Given the description of an element on the screen output the (x, y) to click on. 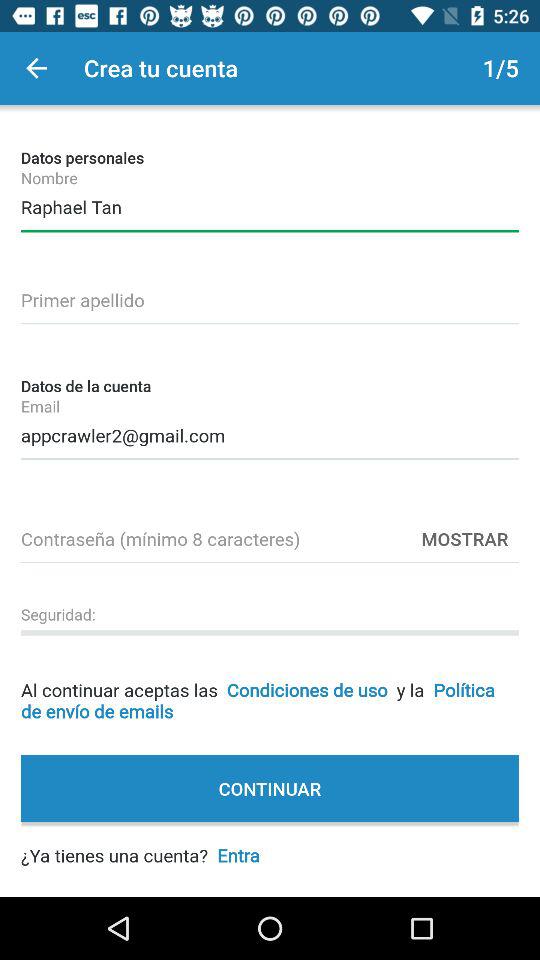
choose the icon above datos de la item (270, 297)
